Given the description of an element on the screen output the (x, y) to click on. 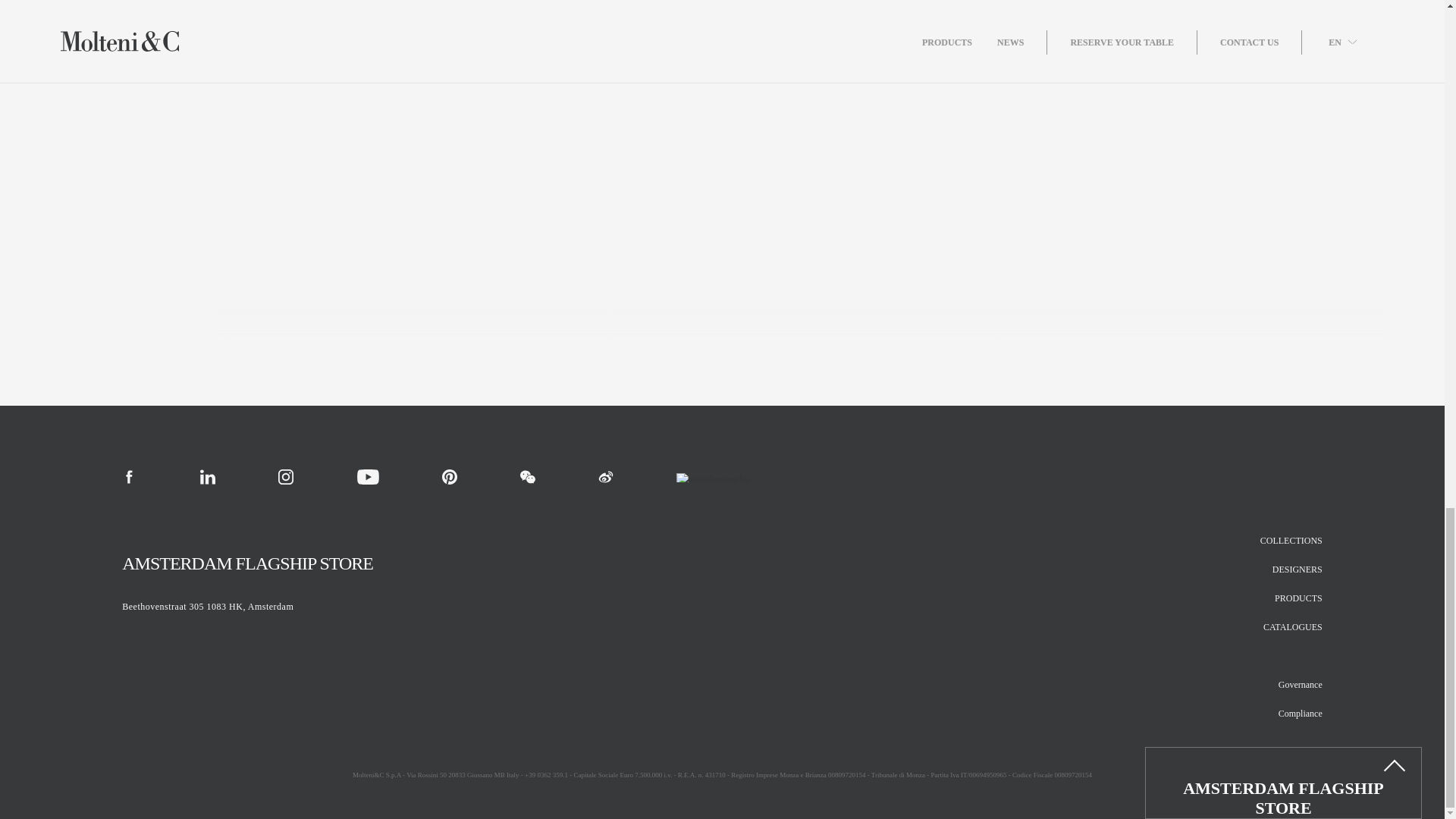
weibo (605, 476)
wechat (527, 476)
linkdedin (207, 476)
facebook (129, 476)
instagram (286, 476)
youtube (367, 476)
pinterest (449, 476)
